Given the description of an element on the screen output the (x, y) to click on. 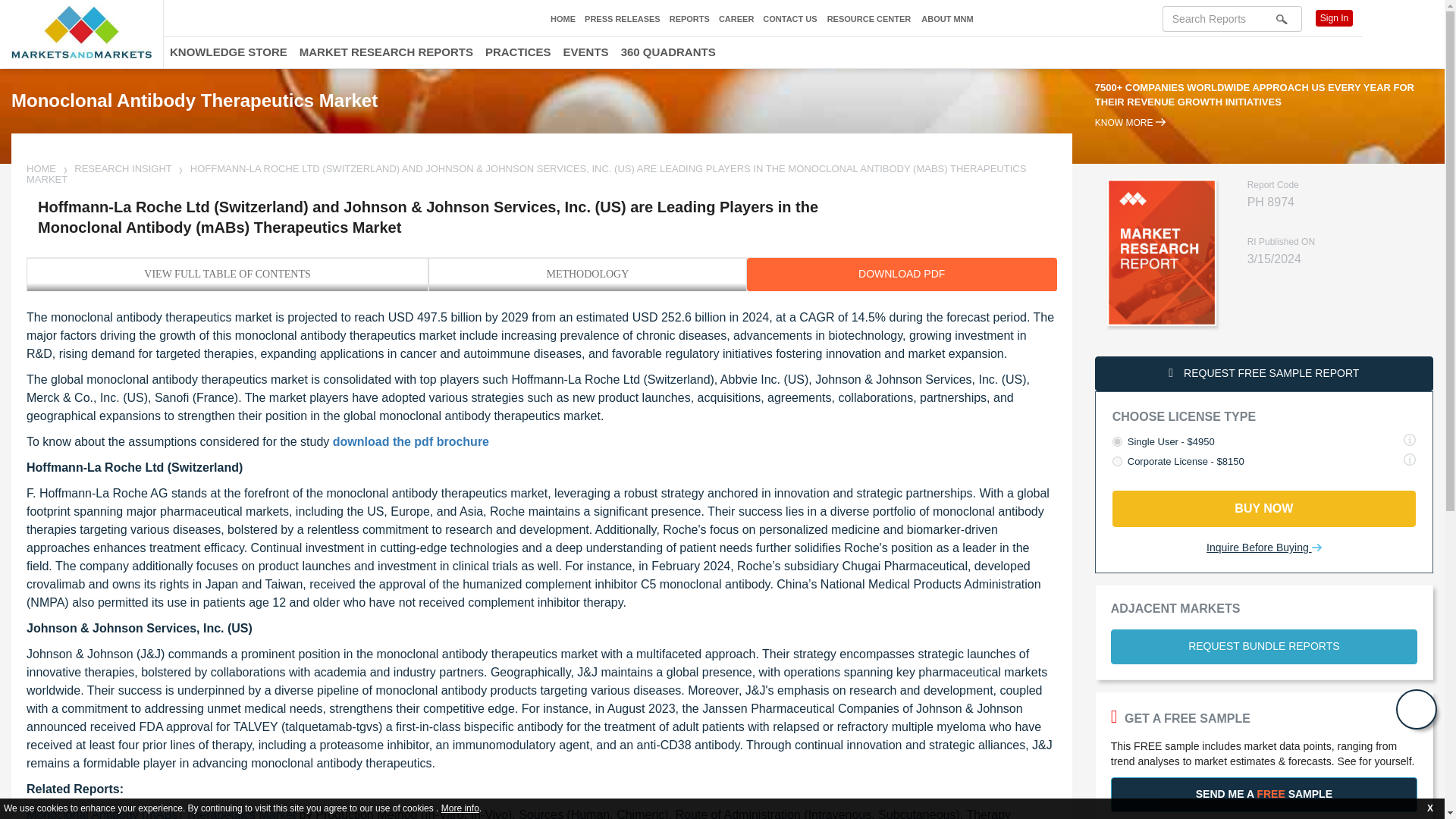
Research Insight (122, 168)
DOWNLOAD PDF (901, 274)
REQUEST BUNDLE REPORTS (1263, 646)
ABOUT MNM (947, 19)
REQUEST FREE SAMPLE REPORT (1263, 373)
CONTACT US (789, 18)
on (1117, 461)
Inquire Before Buying (1264, 548)
View Full TABLE OF Contents (227, 274)
REPORTS (689, 18)
